Given the description of an element on the screen output the (x, y) to click on. 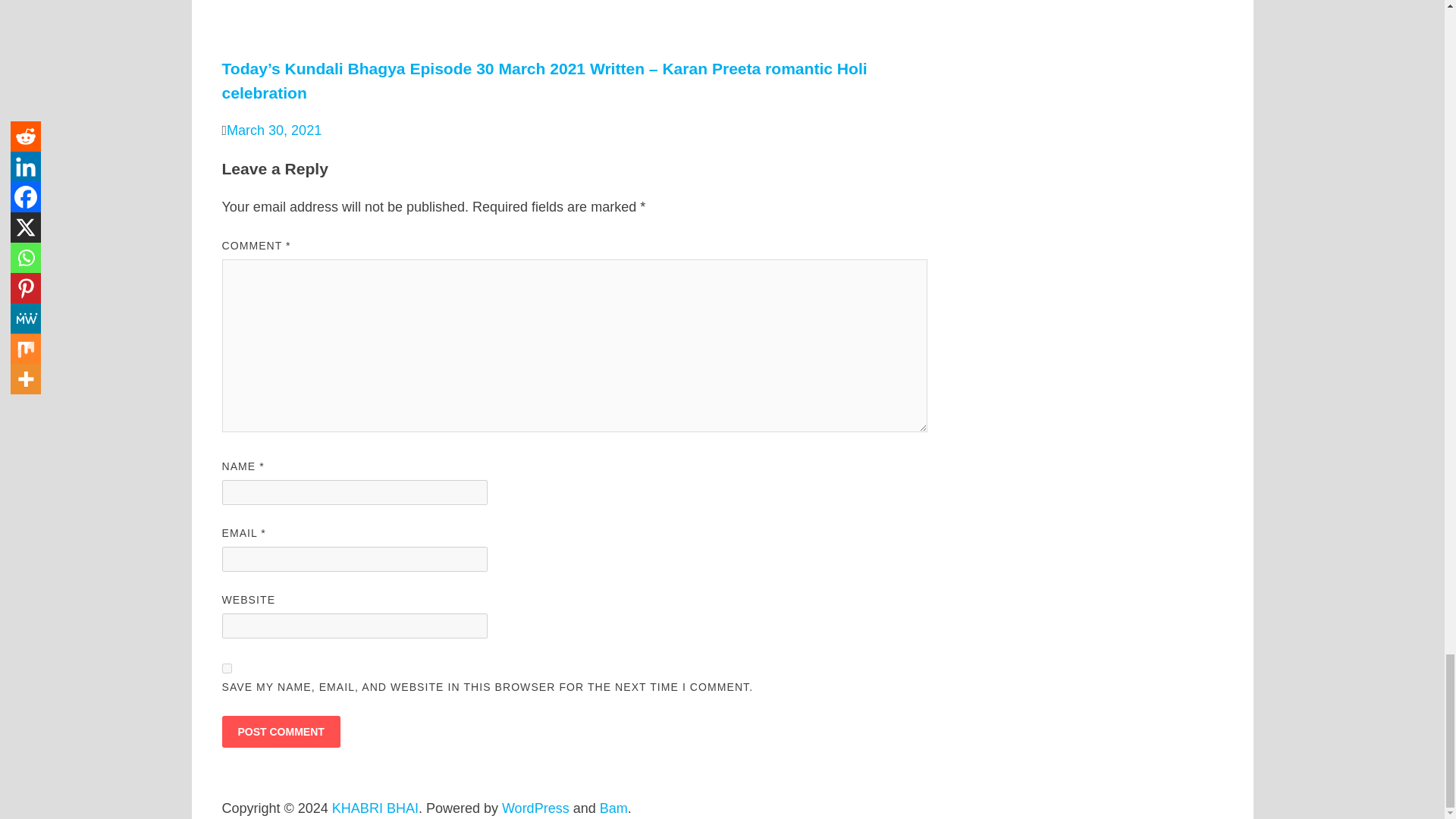
Post Comment (280, 731)
yes (226, 668)
